Given the description of an element on the screen output the (x, y) to click on. 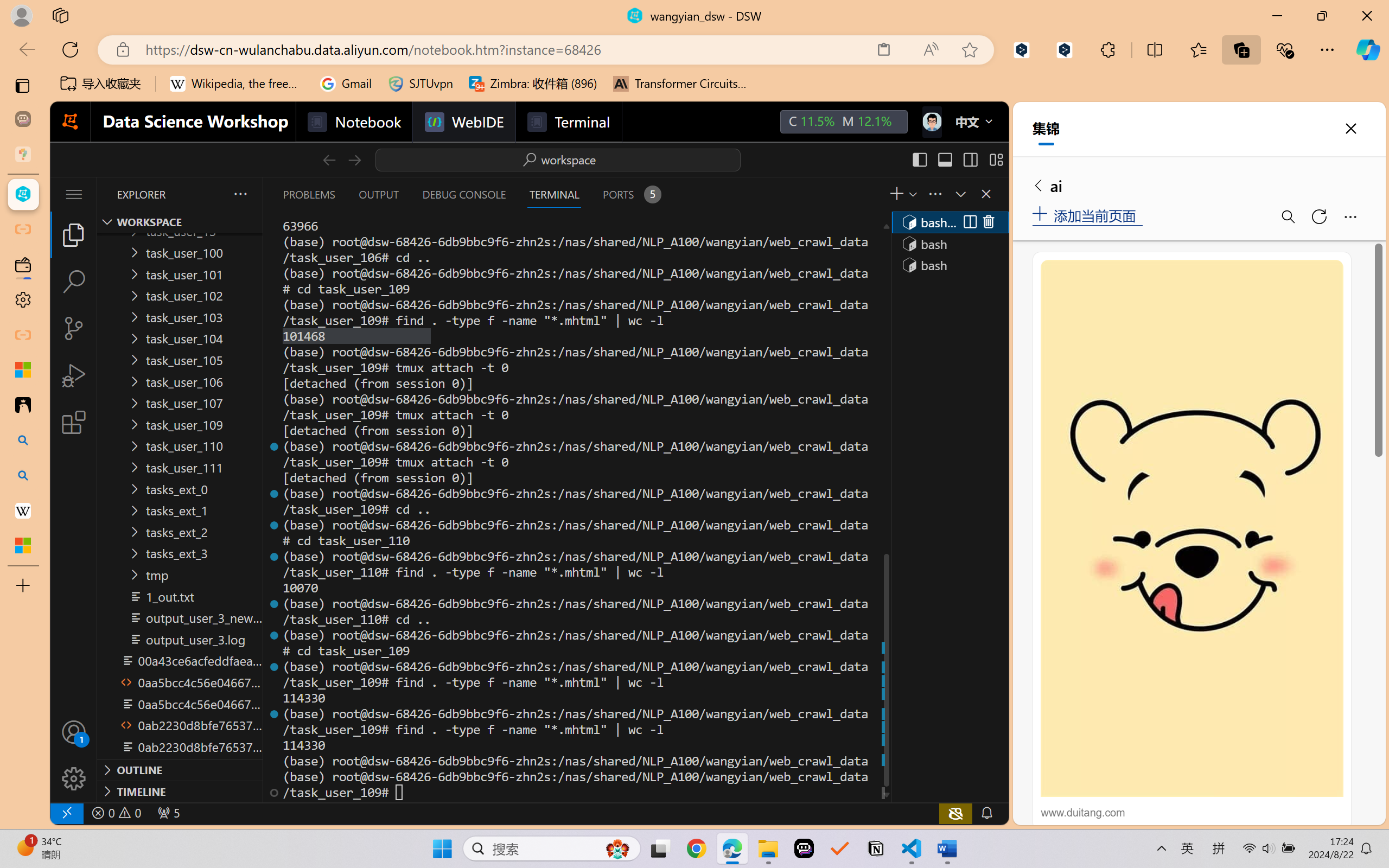
Accounts - Sign in requested (73, 732)
Problems (Ctrl+Shift+M) (308, 194)
SJTUvpn (419, 83)
Application Menu (73, 194)
Customize Layout... (995, 159)
